Given the description of an element on the screen output the (x, y) to click on. 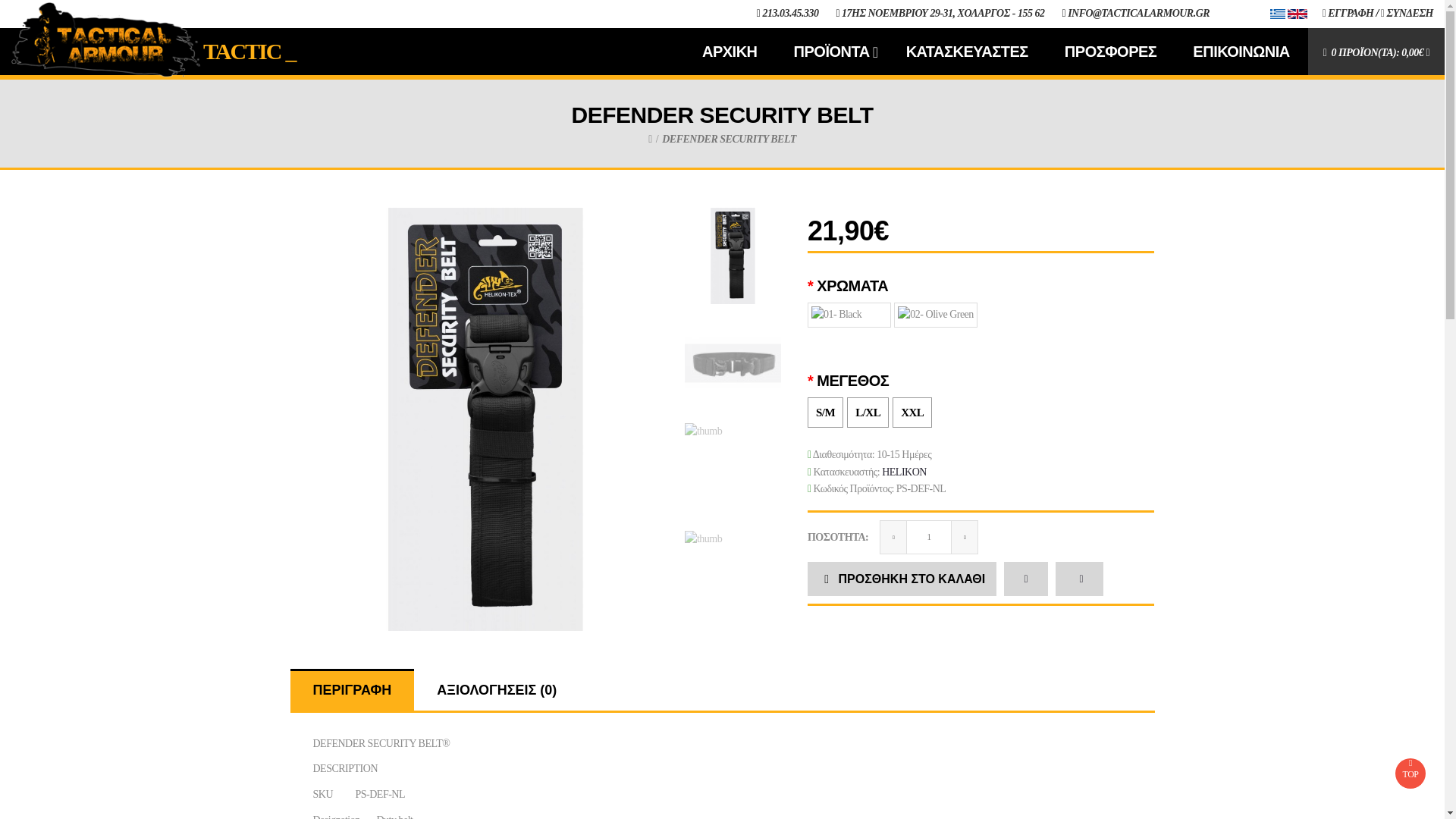
213.03.45.330 (789, 12)
1 (928, 537)
TOP (1409, 773)
Tacticalarmour (105, 39)
